Given the description of an element on the screen output the (x, y) to click on. 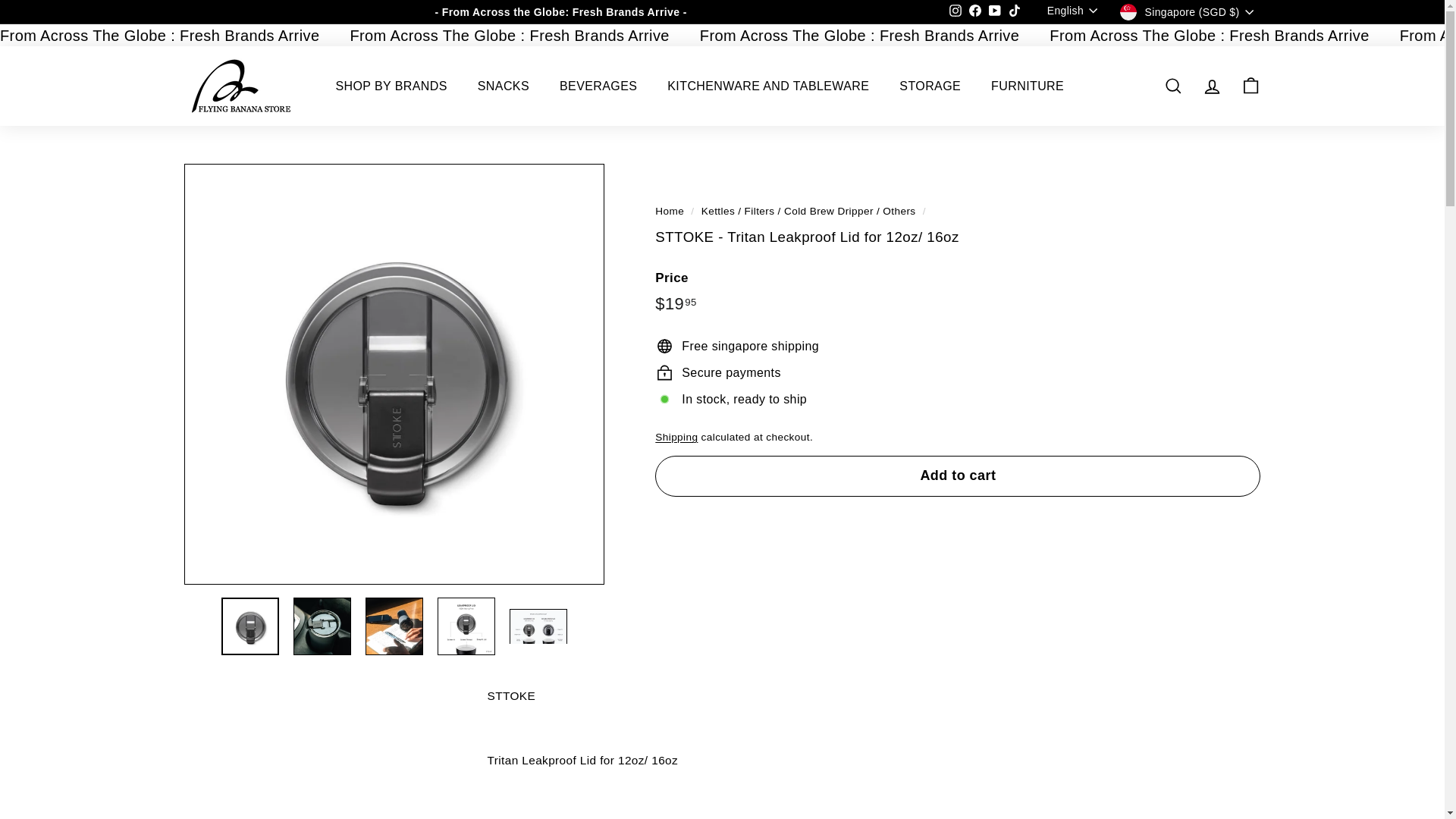
Instagram (954, 12)
TikTok (1014, 12)
Flyingbananastore on Facebook (975, 12)
Facebook (975, 12)
Flyingbananastore on YouTube (994, 12)
Flyingbananastore on Instagram (954, 12)
English (1075, 10)
YouTube (994, 12)
Back to the frontpage (669, 211)
Flyingbananastore on TikTok (1014, 12)
